Given the description of an element on the screen output the (x, y) to click on. 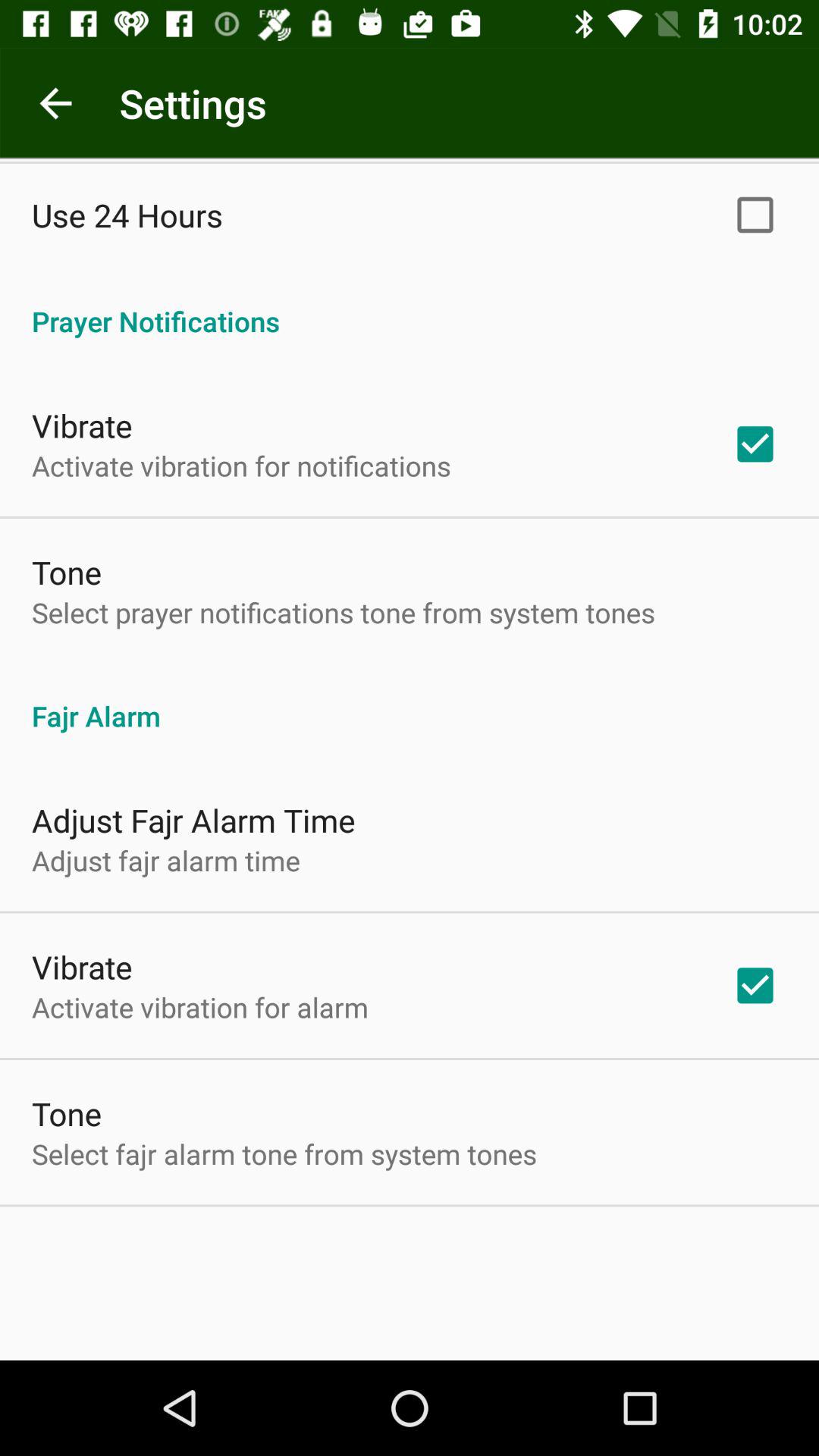
go back (55, 103)
